Given the description of an element on the screen output the (x, y) to click on. 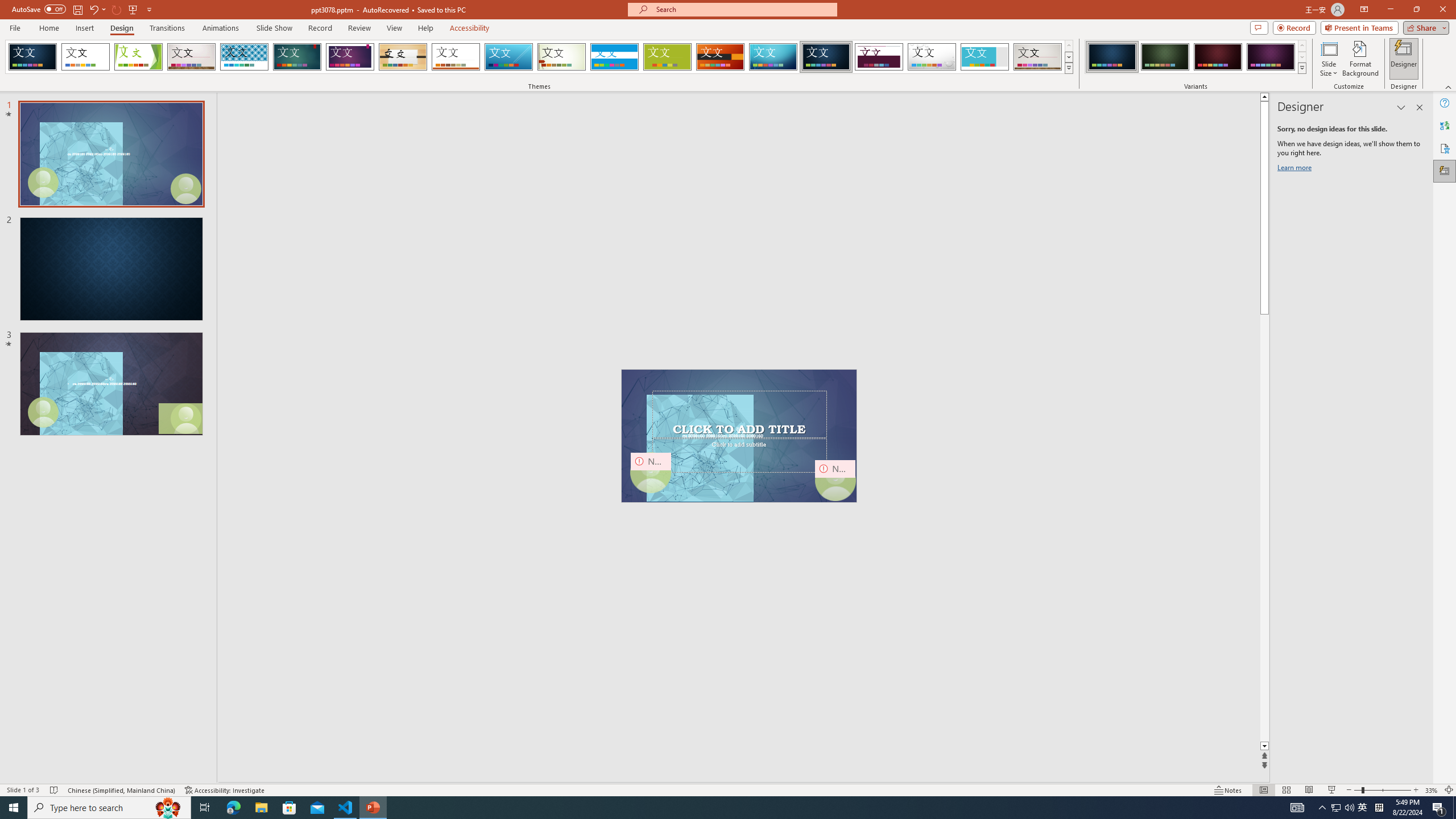
Zoom 33% (1431, 790)
Frame (984, 56)
TextBox 61 (737, 436)
Slice (508, 56)
Droplet (931, 56)
